Given the description of an element on the screen output the (x, y) to click on. 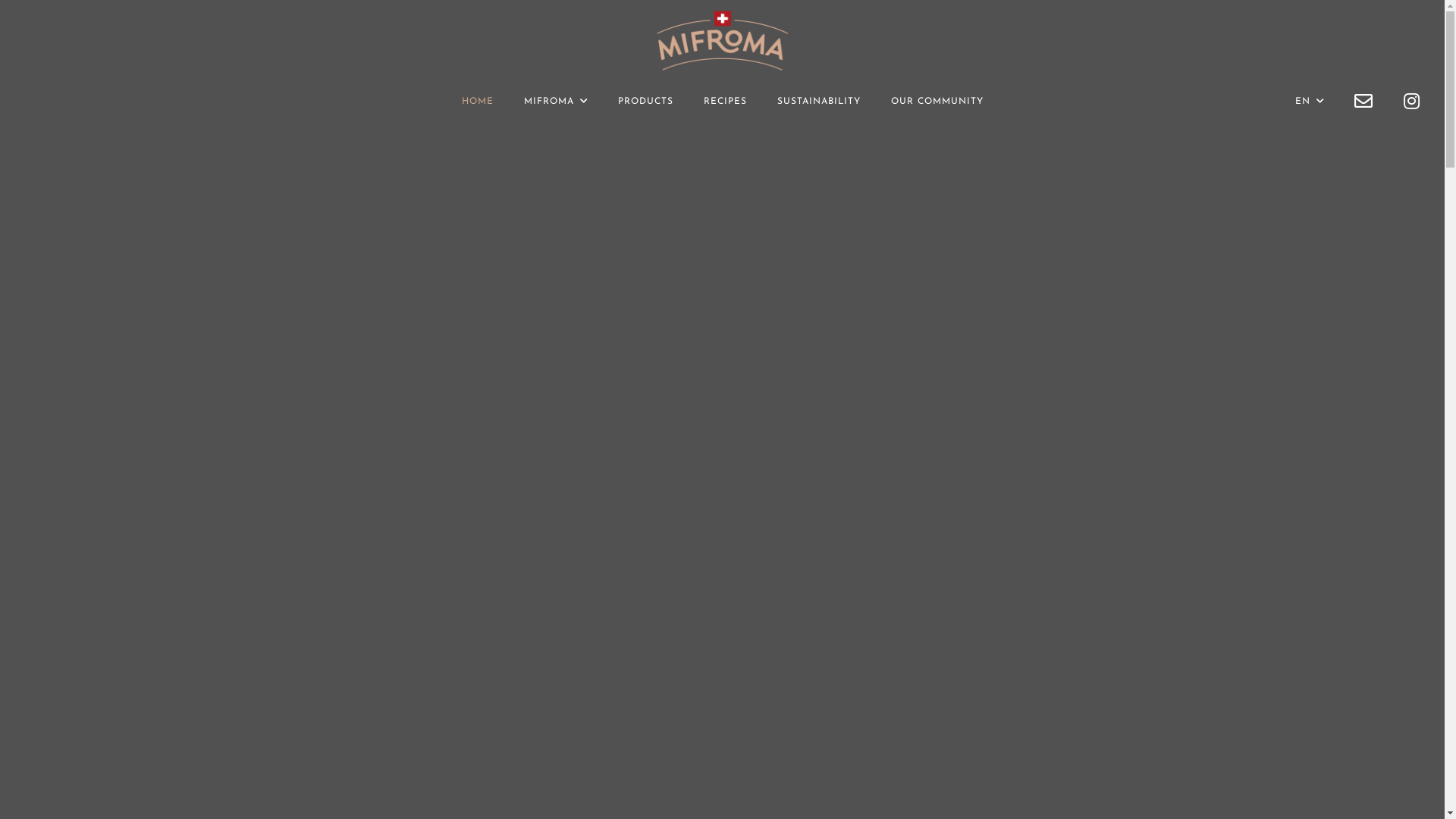
OUR COMMUNITY Element type: text (936, 101)
PRODUCTS Element type: text (644, 101)
EN Element type: text (1302, 101)
RECIPES Element type: text (724, 101)
SUSTAINABILITY Element type: text (817, 101)
HOME Element type: text (476, 101)
